Given the description of an element on the screen output the (x, y) to click on. 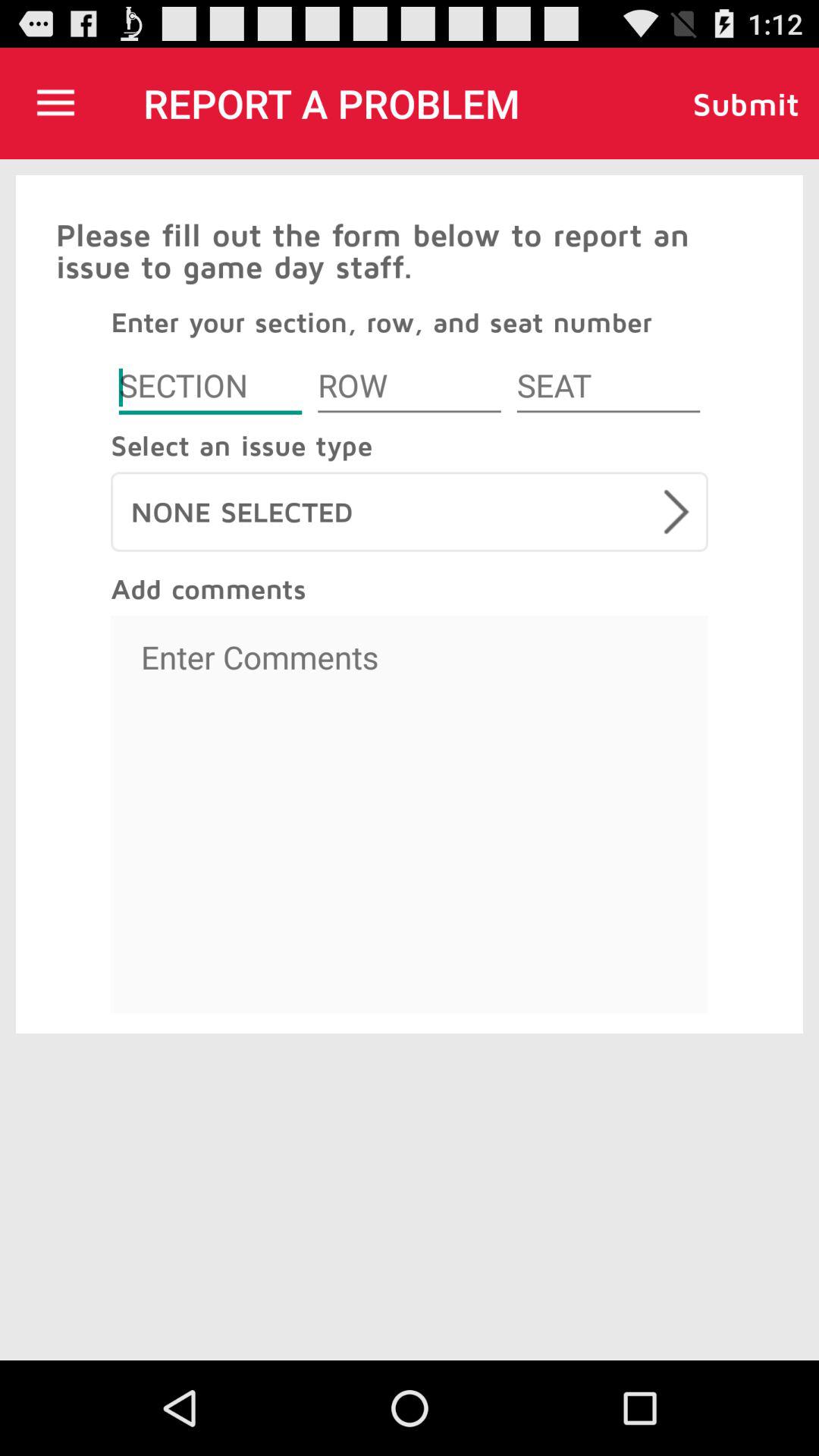
comment box to add comment (409, 814)
